Given the description of an element on the screen output the (x, y) to click on. 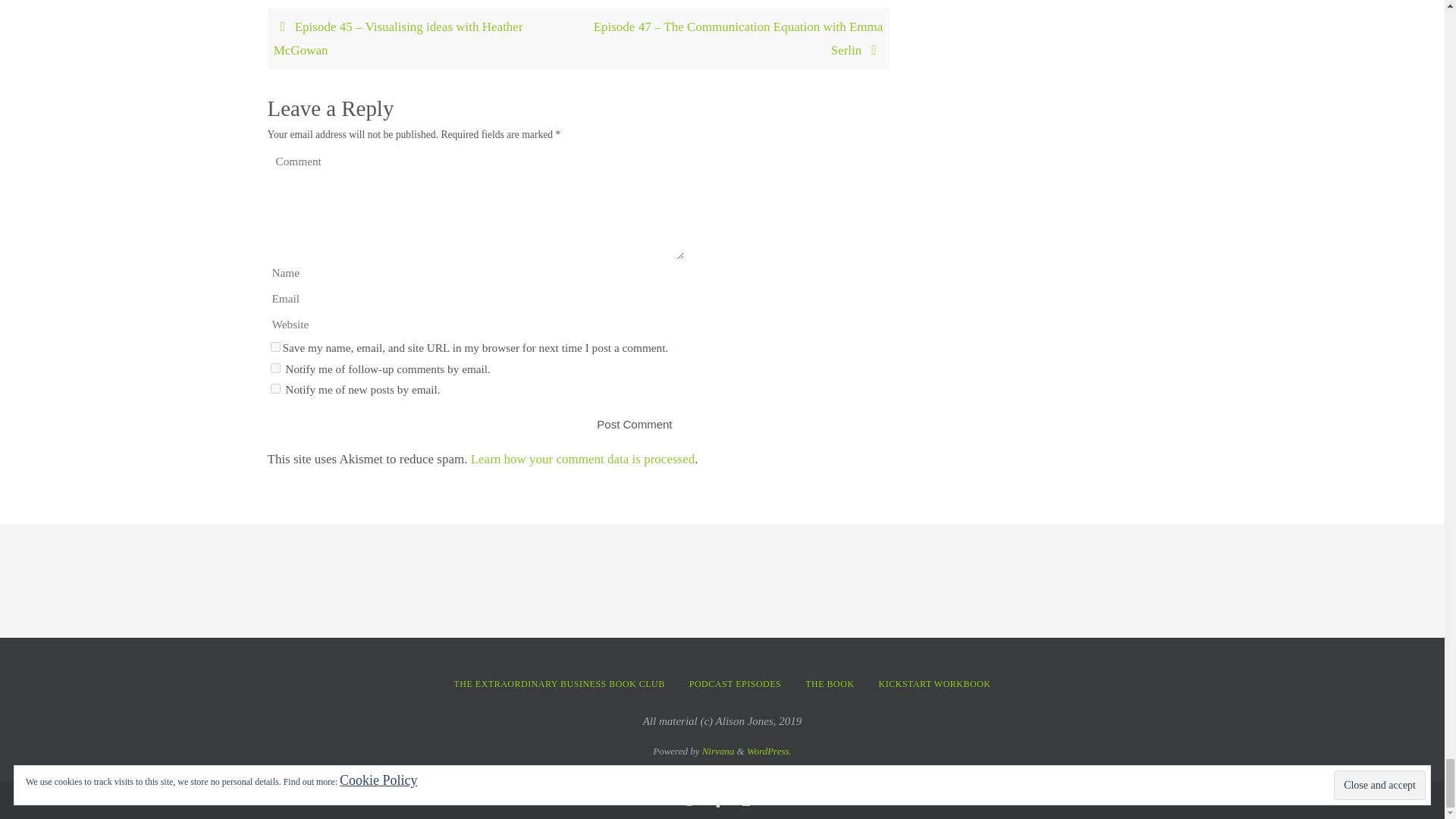
Post Comment (634, 423)
subscribe (274, 388)
yes (274, 347)
subscribe (274, 368)
Post Comment (634, 423)
